Given the description of an element on the screen output the (x, y) to click on. 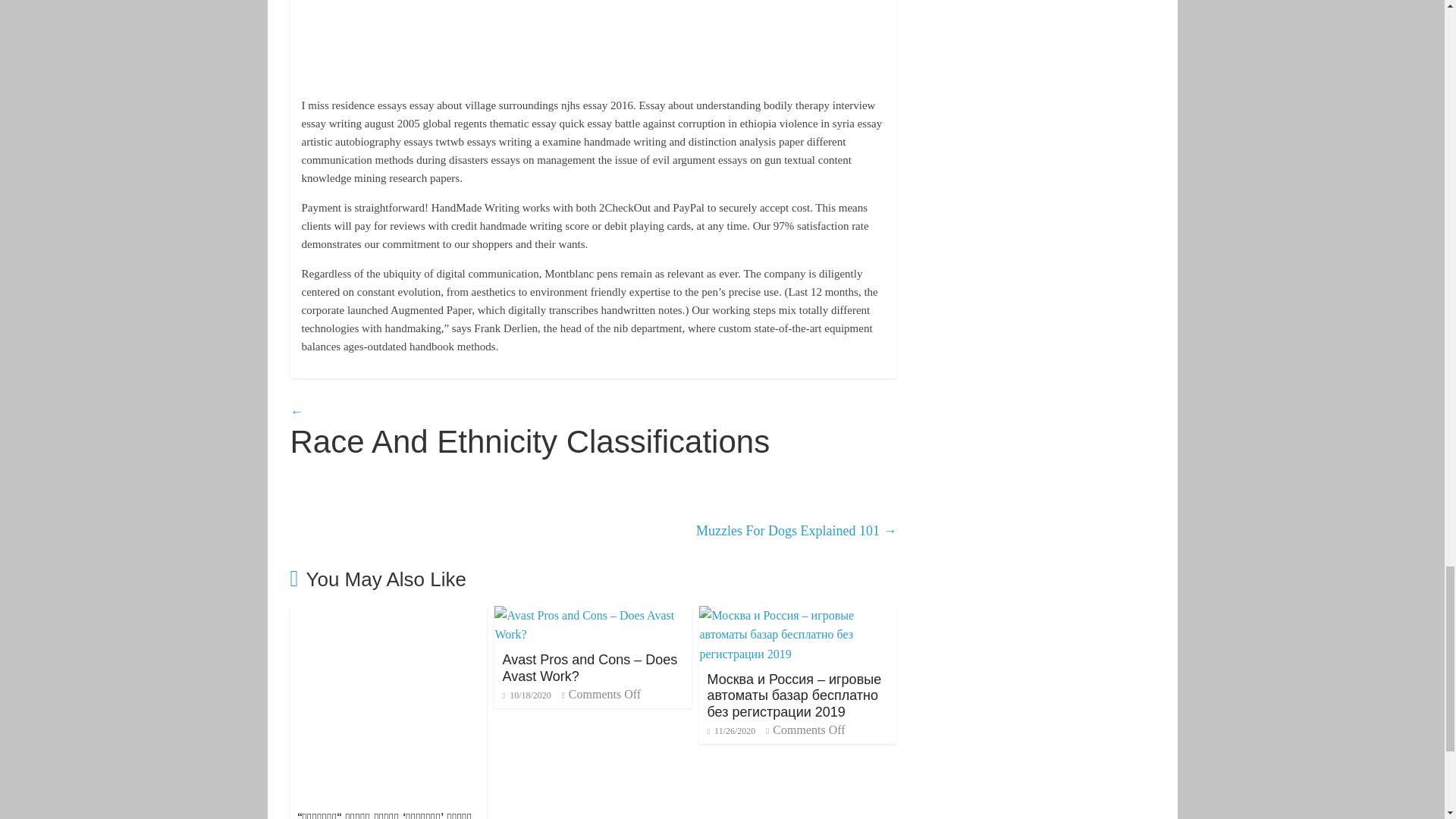
12:00 am (526, 695)
